Given the description of an element on the screen output the (x, y) to click on. 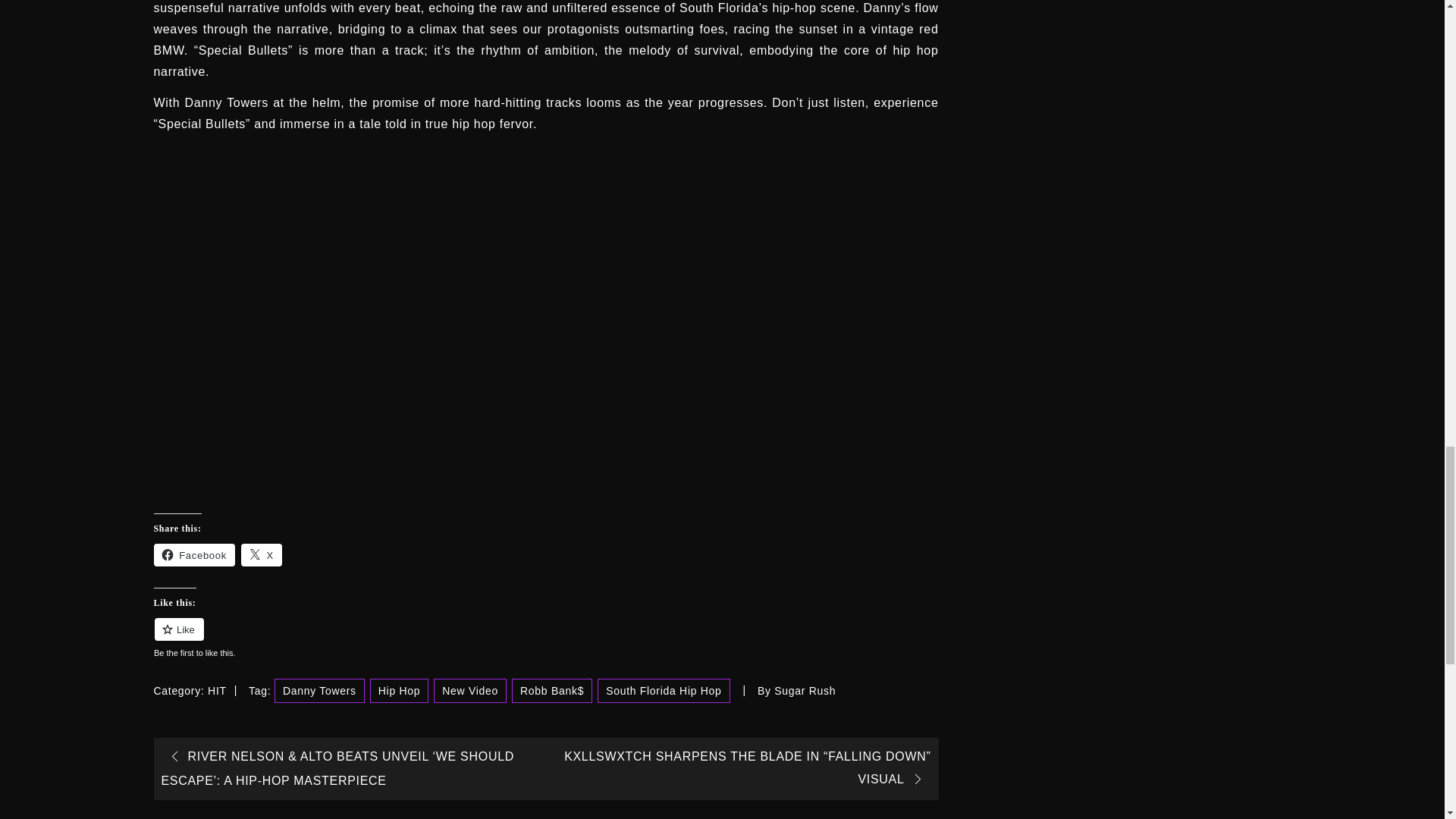
Danny Towers (320, 690)
Like or Reblog (544, 638)
New Video (469, 690)
Click to share on Facebook (193, 554)
South Florida Hip Hop (662, 690)
HIT (217, 690)
Sugar Rush (804, 690)
Facebook (193, 554)
X (261, 554)
Hip Hop (398, 690)
Click to share on X (261, 554)
